Given the description of an element on the screen output the (x, y) to click on. 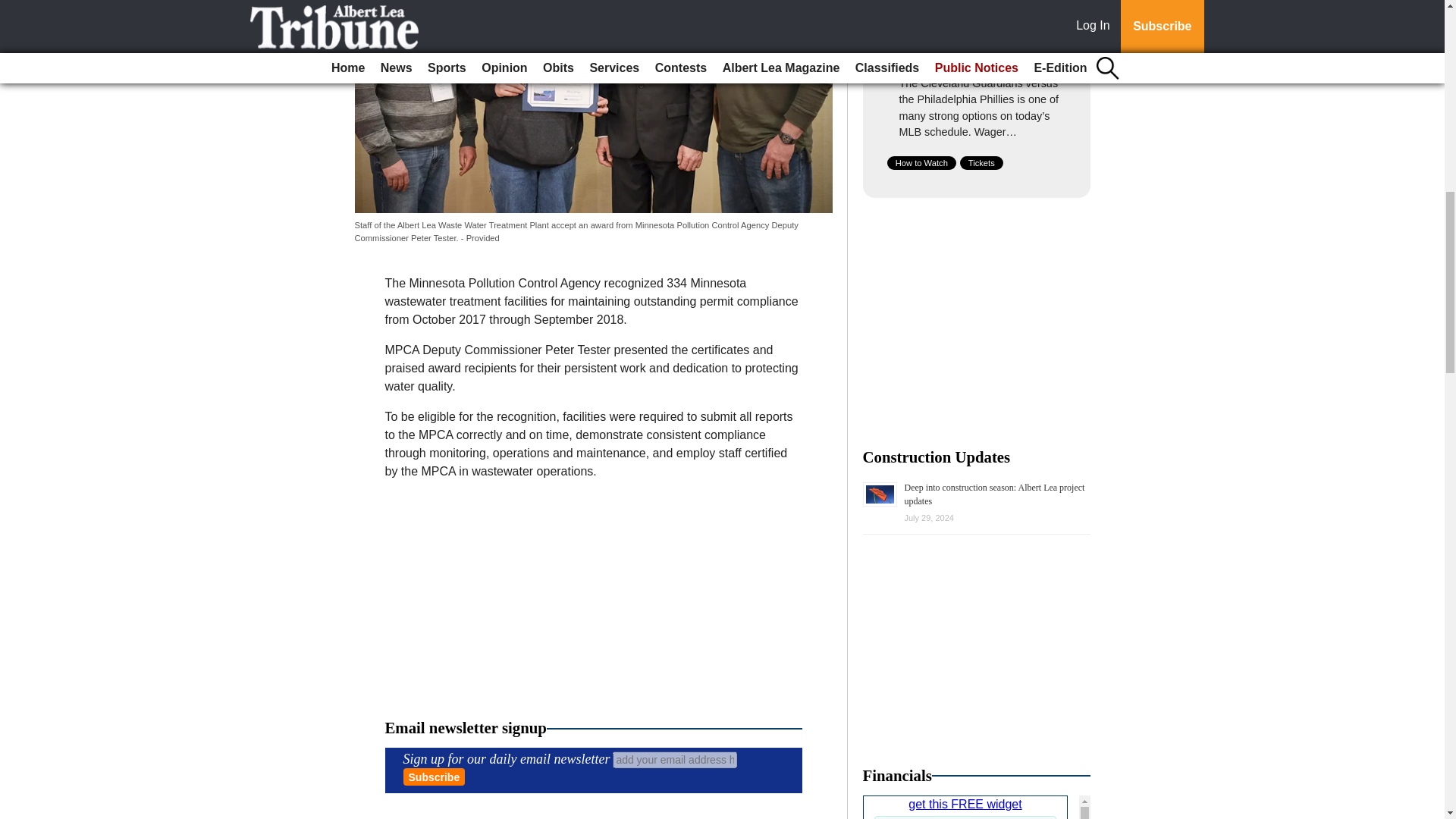
Subscribe (434, 776)
US Market Update (976, 807)
